Given the description of an element on the screen output the (x, y) to click on. 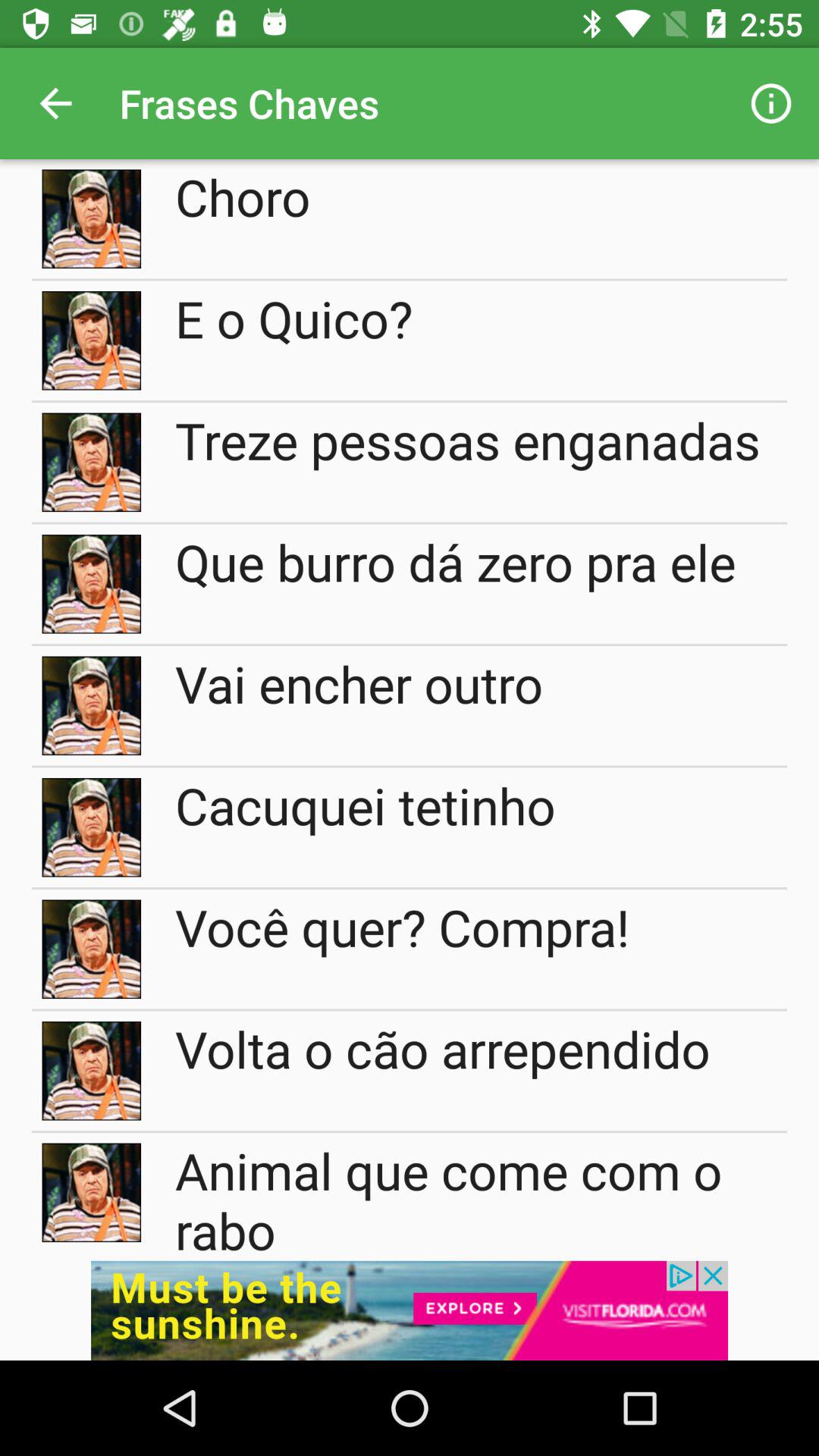
click advertisement (409, 1310)
